Given the description of an element on the screen output the (x, y) to click on. 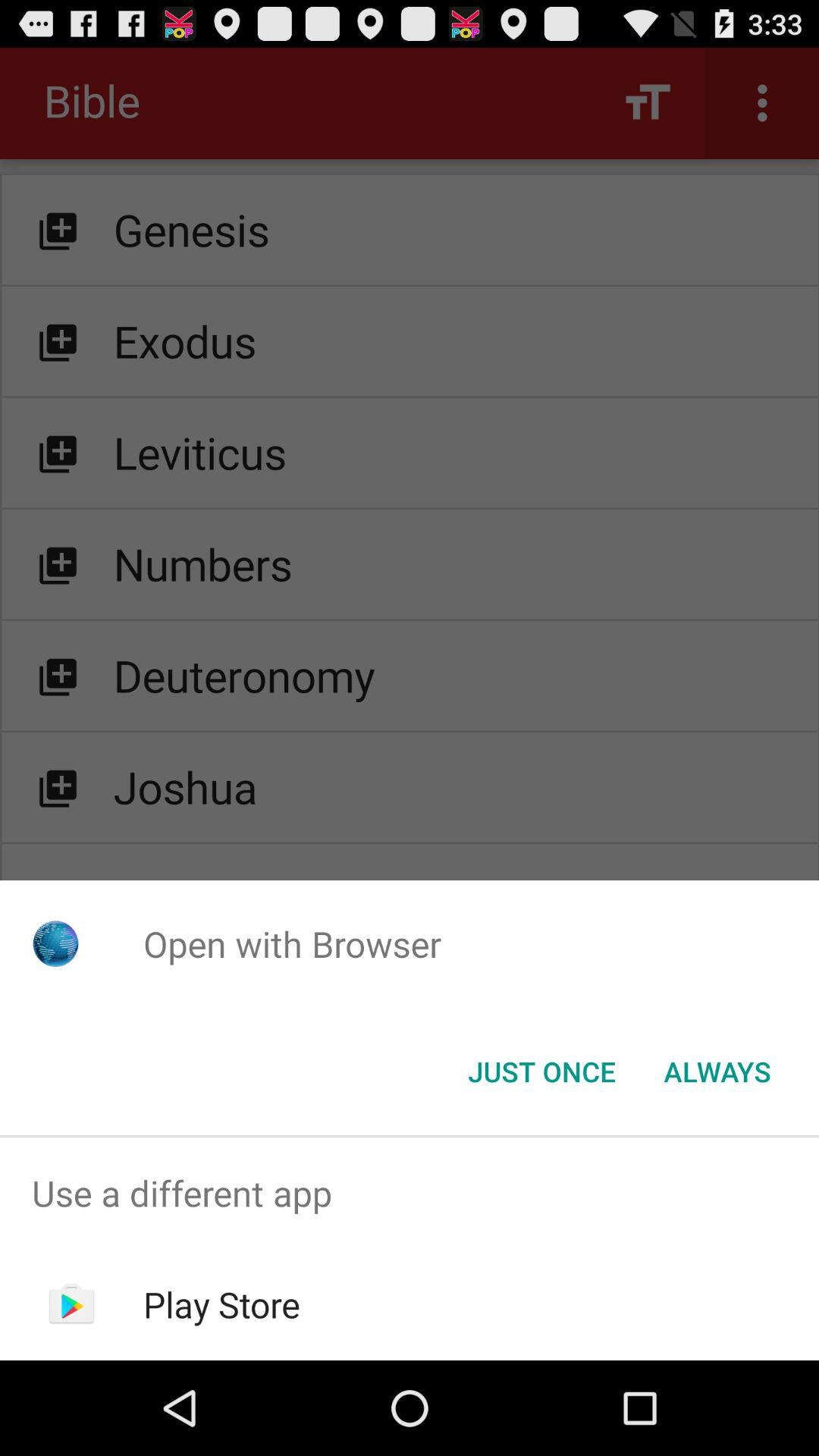
launch the icon next to the just once (717, 1071)
